Given the description of an element on the screen output the (x, y) to click on. 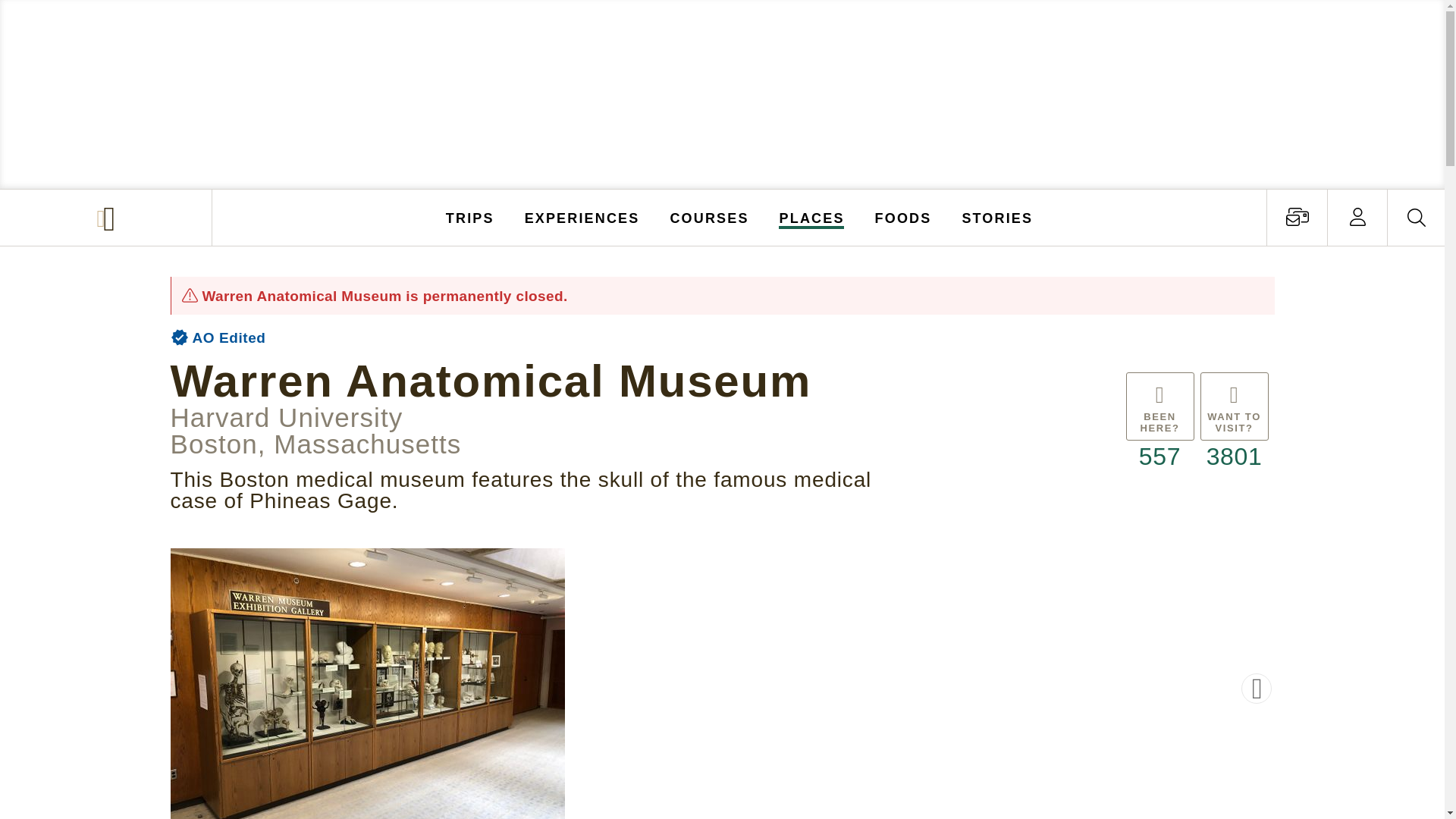
COURSES (707, 217)
PLACES (812, 217)
EXPERIENCES (582, 217)
TRIPS (469, 217)
